Given the description of an element on the screen output the (x, y) to click on. 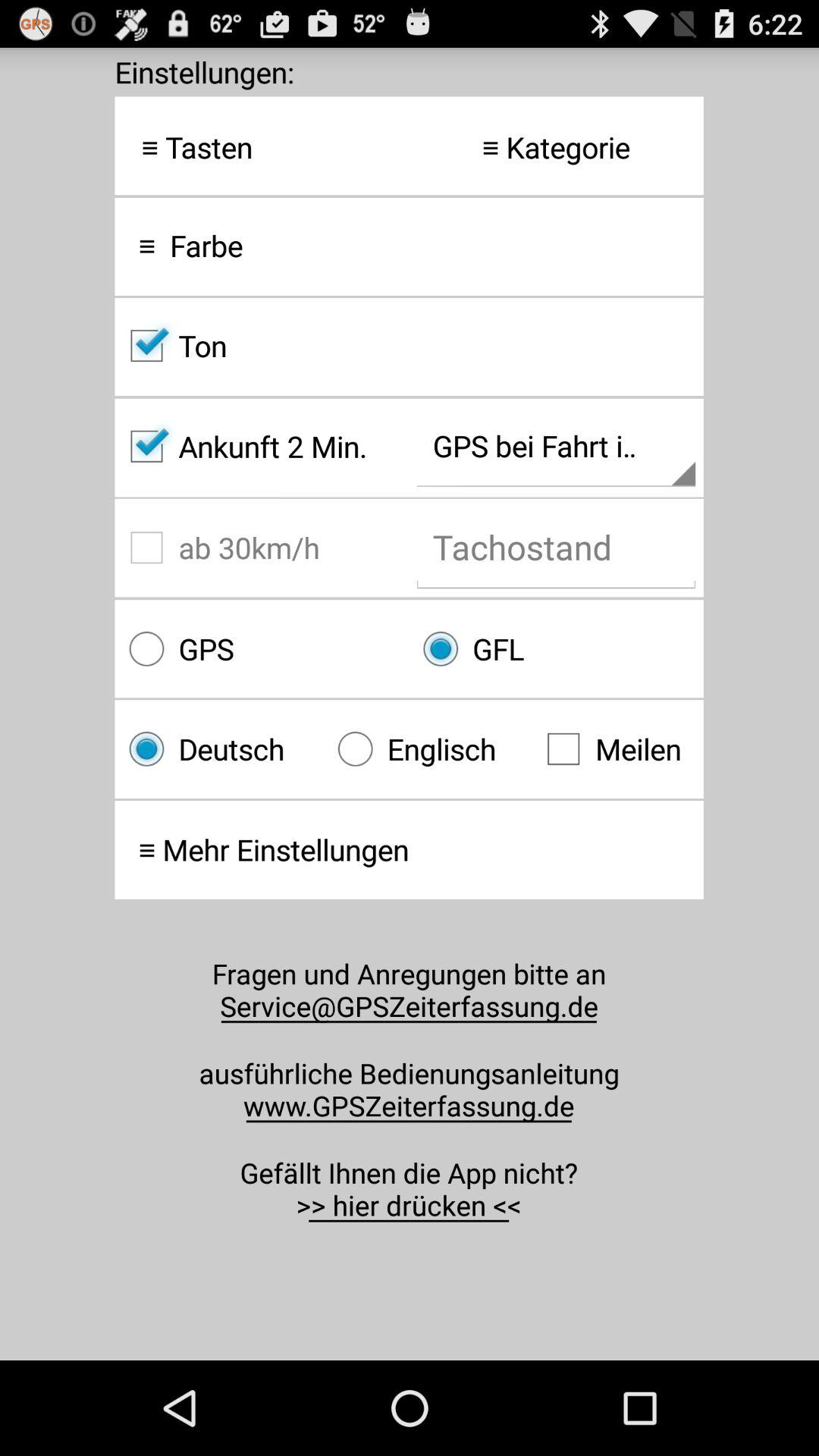
press the ab 30km/h icon (261, 547)
